Given the description of an element on the screen output the (x, y) to click on. 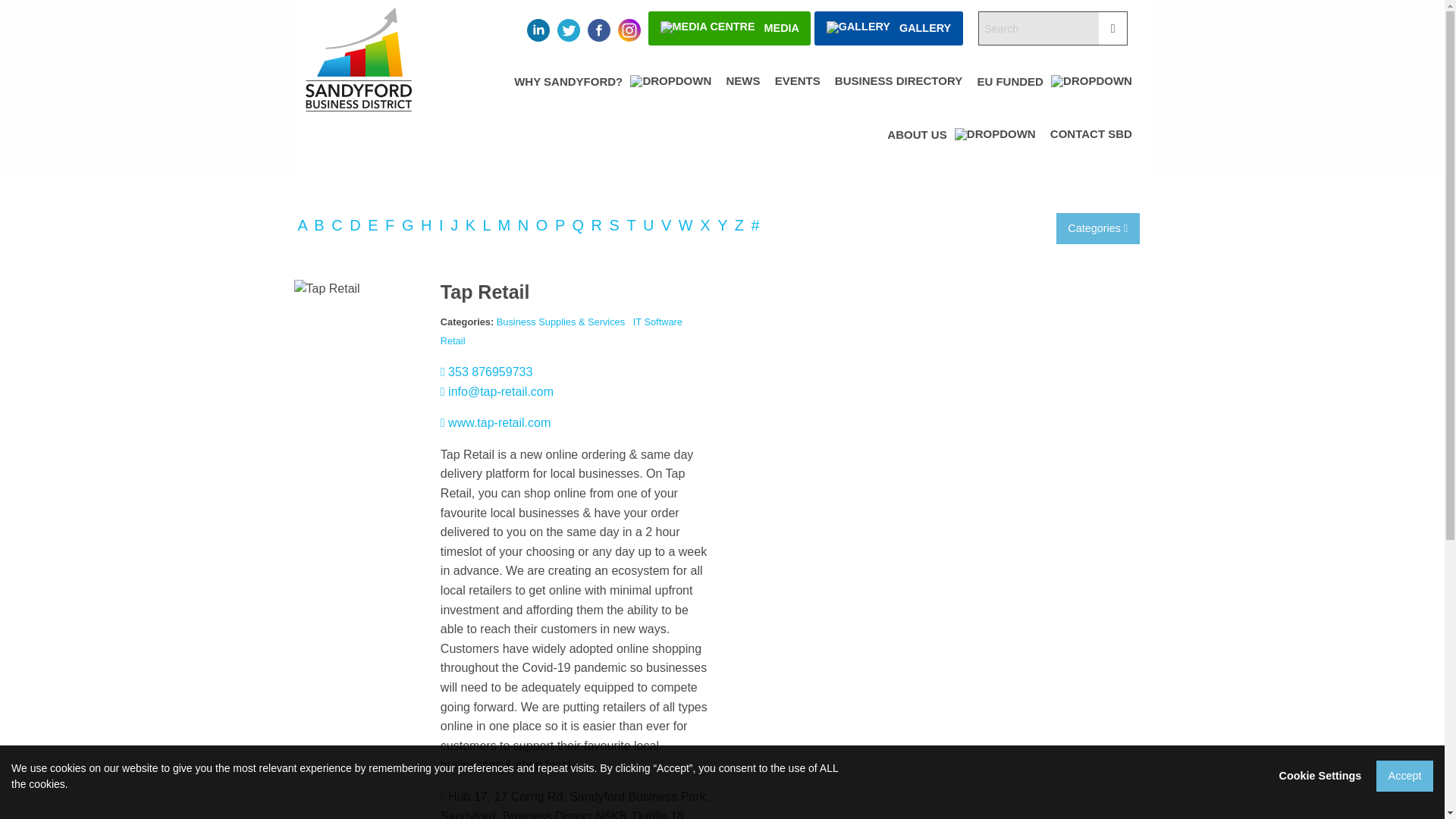
EU FUNDED (1054, 95)
WHY SANDYFORD? (612, 95)
BUSINESS DIRECTORY (898, 95)
Products: 21 (543, 225)
Products: 16 (525, 225)
   MEDIA (728, 28)
Products: 25 (427, 225)
NEWS (743, 95)
Products: 33 (599, 225)
Products: 63 (338, 225)
